Given the description of an element on the screen output the (x, y) to click on. 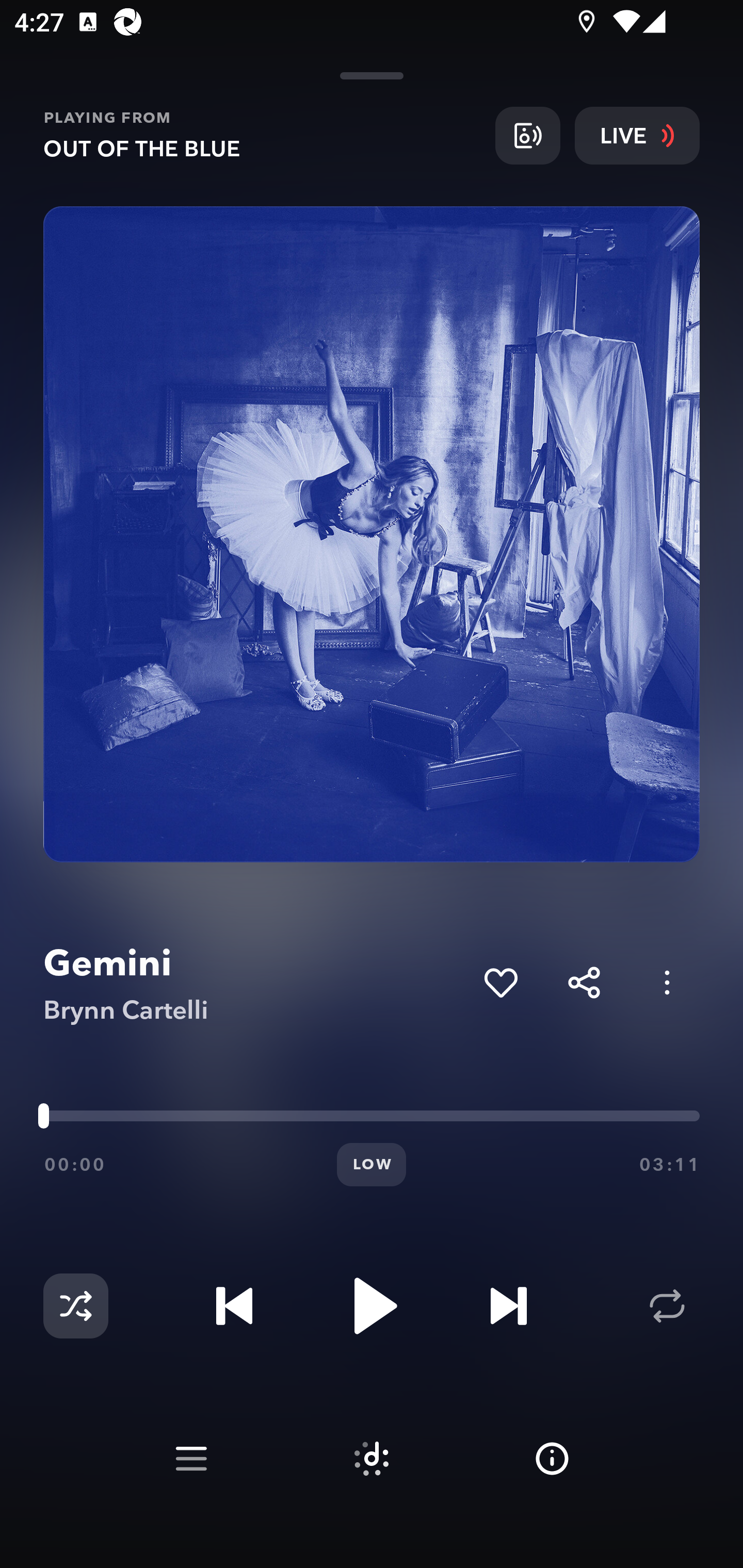
Broadcast (527, 135)
LIVE (637, 135)
PLAYING FROM OUT OF THE BLUE (261, 135)
Gemini Brynn Cartelli (255, 983)
Add to My Collection (500, 982)
Share (583, 982)
Options (666, 982)
LOW (371, 1164)
Play (371, 1306)
Previous (234, 1306)
Next (508, 1306)
Shuffle enabled (75, 1306)
Repeat Off (666, 1306)
Play queue (191, 1458)
Suggested tracks (371, 1458)
Info (551, 1458)
